Given the description of an element on the screen output the (x, y) to click on. 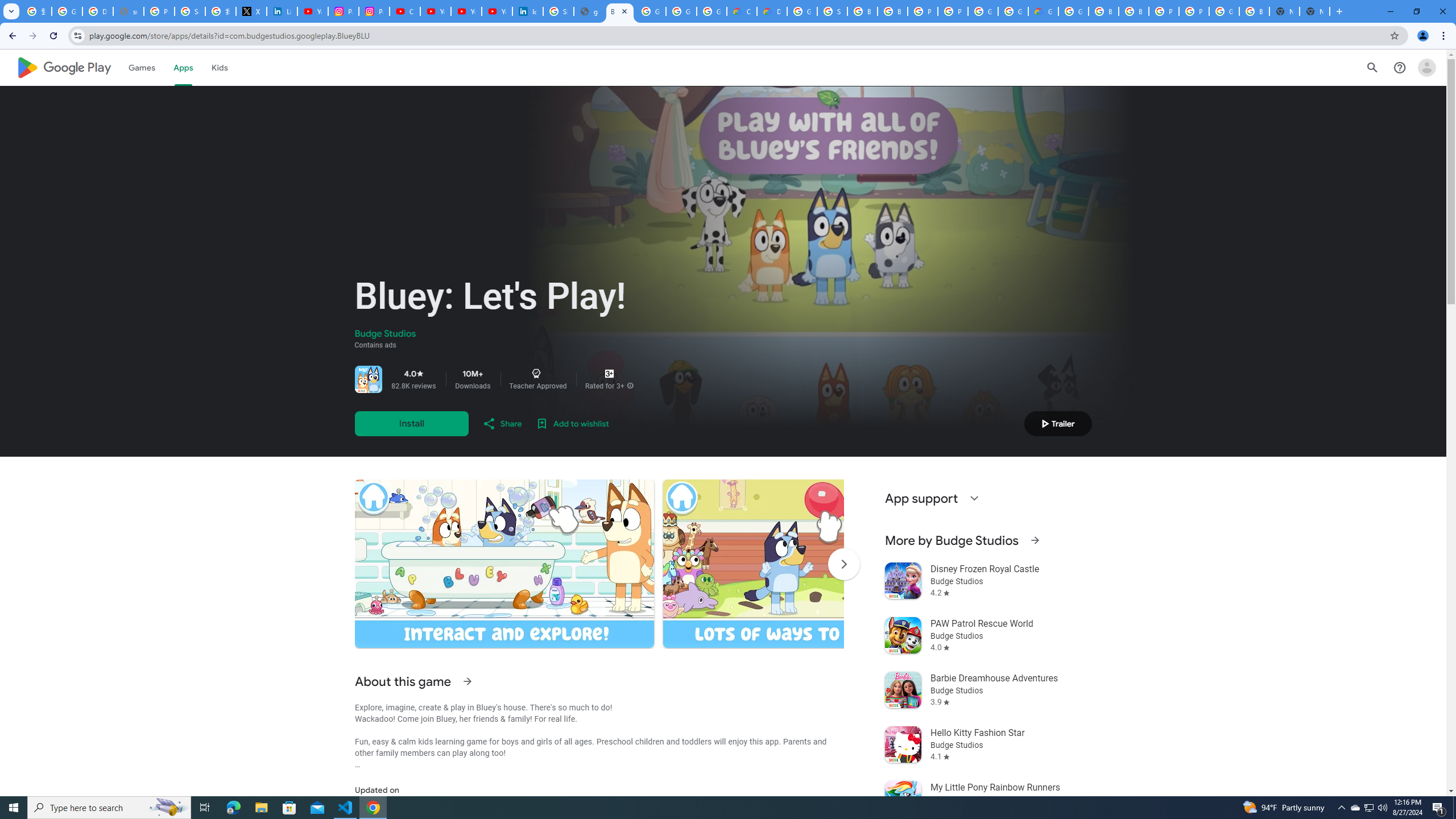
YouTube Content Monetization Policies - How YouTube Works (312, 11)
